Given the description of an element on the screen output the (x, y) to click on. 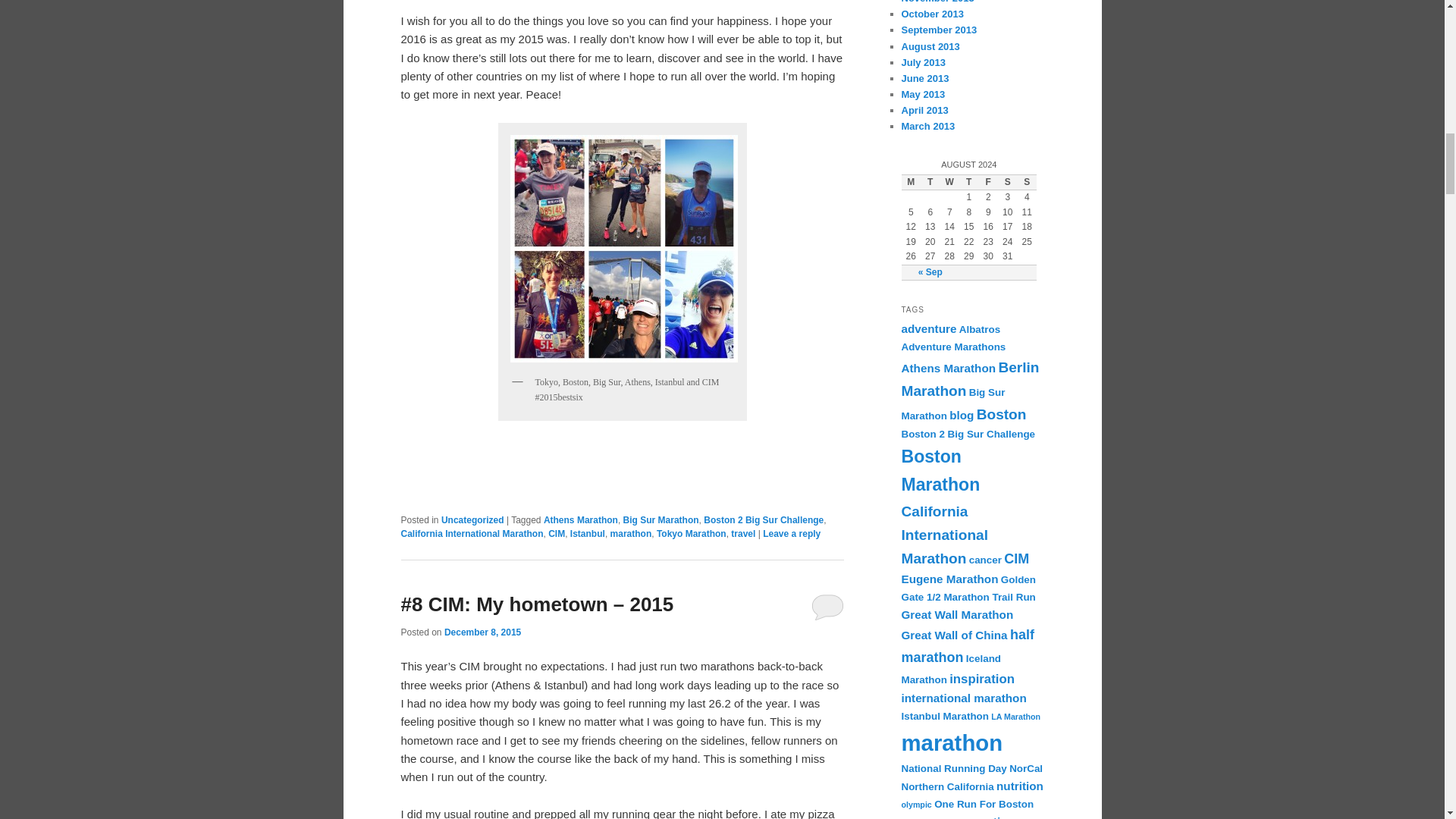
Leave a reply (791, 533)
View all posts in Uncategorized (472, 520)
Boston 2 Big Sur Challenge (763, 520)
California International Marathon (471, 533)
Big Sur Marathon (660, 520)
CIM (556, 533)
Uncategorized (472, 520)
Athens Marathon (580, 520)
Tokyo Marathon (691, 533)
travel (742, 533)
marathon (631, 533)
Istanbul (587, 533)
